Given the description of an element on the screen output the (x, y) to click on. 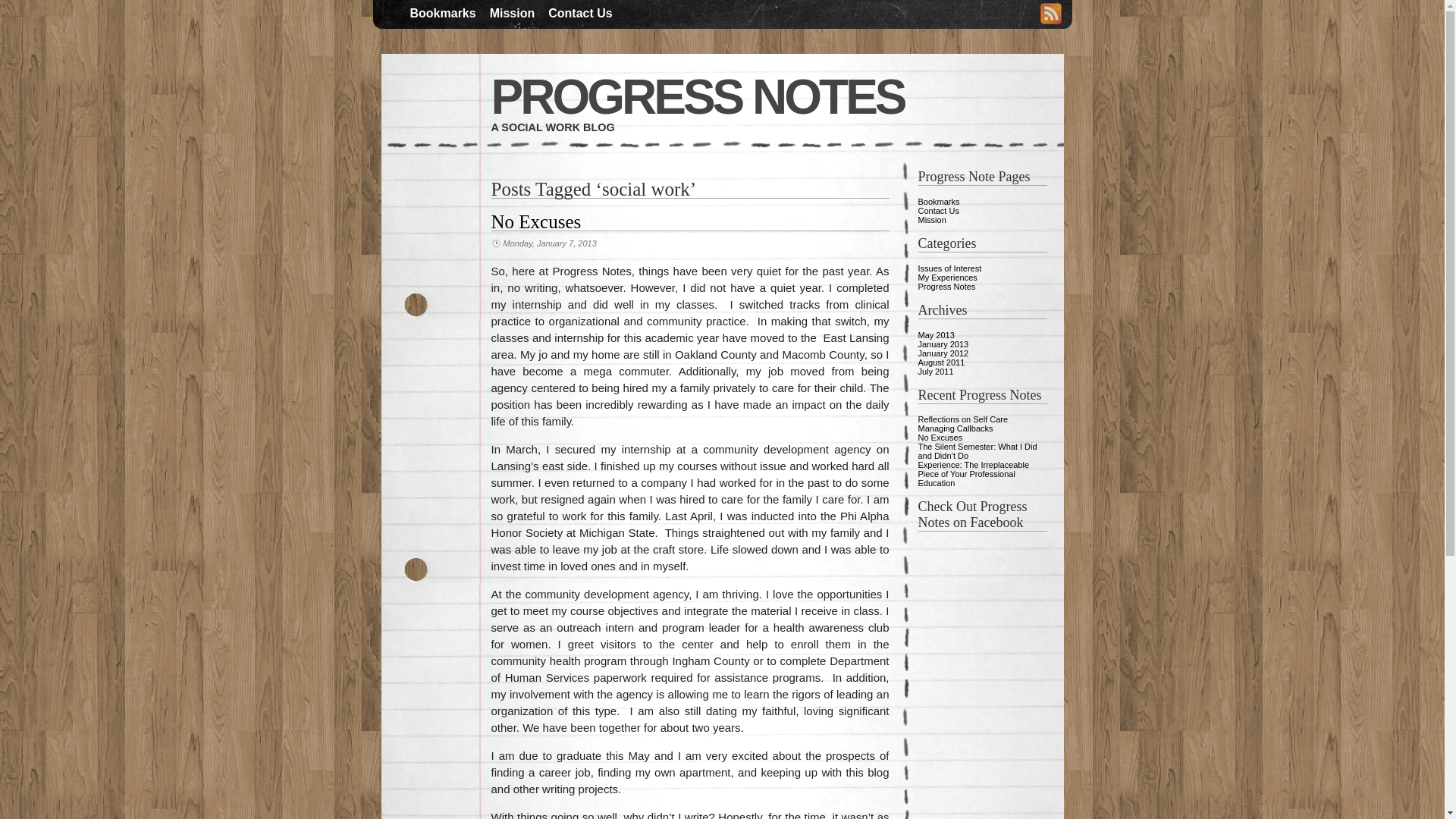
Issues of Interest (949, 267)
January 2013 (942, 343)
August 2011 (940, 361)
Managing Callbacks (954, 428)
January 2012 (942, 352)
Reflections on Self Care (962, 419)
July 2011 (935, 370)
Bookmarks (442, 13)
No Excuses (939, 437)
